Given the description of an element on the screen output the (x, y) to click on. 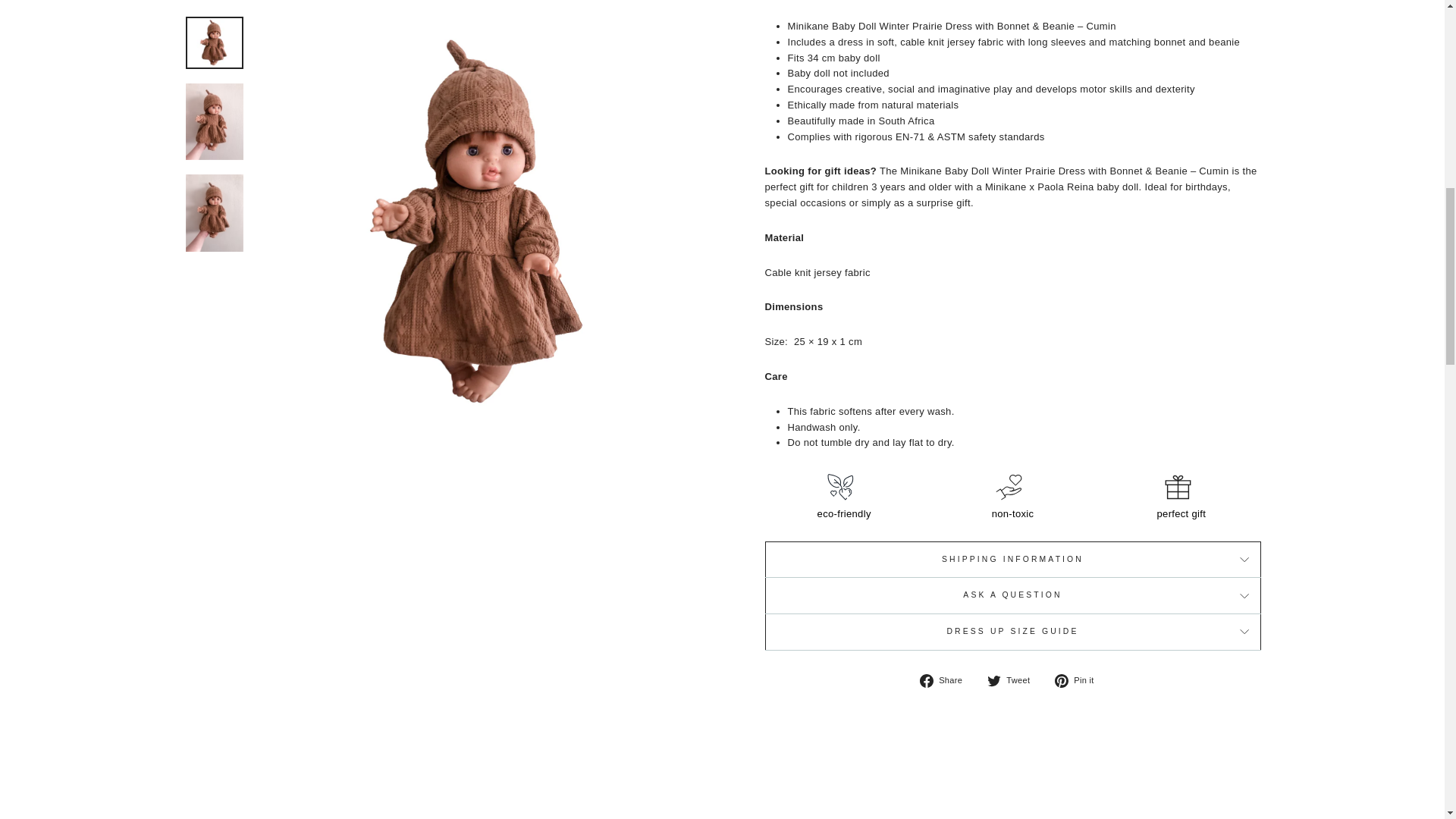
Pin on Pinterest (1079, 681)
Tweet on Twitter (1014, 681)
Share on Facebook (947, 681)
